Given the description of an element on the screen output the (x, y) to click on. 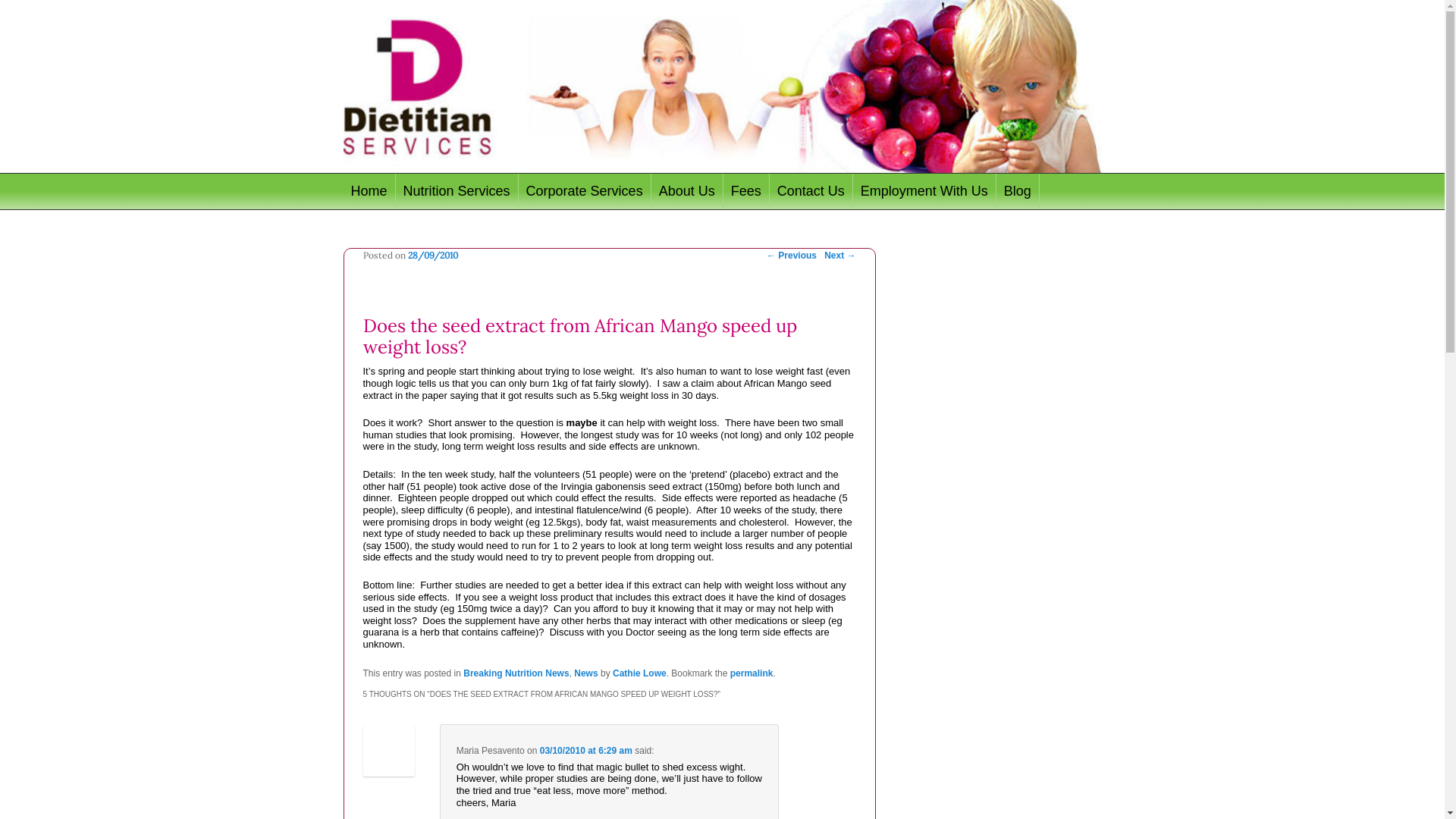
News Element type: text (585, 673)
About Us Element type: text (687, 191)
Skip to secondary content Element type: text (428, 191)
Fees Element type: text (746, 191)
Contact Us Element type: text (811, 191)
03/10/2010 at 6:29 am Element type: text (585, 750)
Breaking Nutrition News Element type: text (515, 673)
Blog Element type: text (1017, 191)
permalink Element type: text (751, 673)
Home Element type: text (368, 191)
28/09/2010 Element type: text (432, 254)
Skip to primary content Element type: text (420, 191)
Employment With Us Element type: text (924, 191)
Nutrition Services Element type: text (456, 191)
Corporate Services Element type: text (584, 191)
Cathie Lowe Element type: text (639, 673)
